Given the description of an element on the screen output the (x, y) to click on. 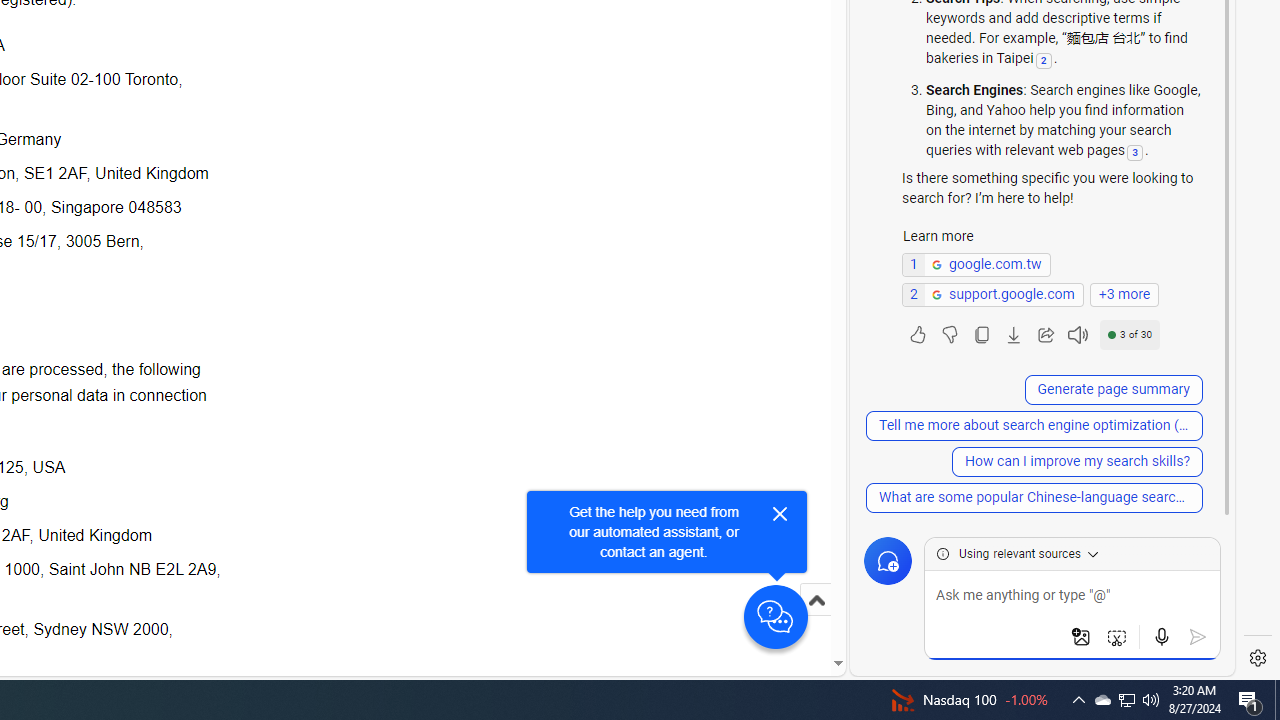
Scroll to top (816, 599)
Scroll to top (816, 620)
